Given the description of an element on the screen output the (x, y) to click on. 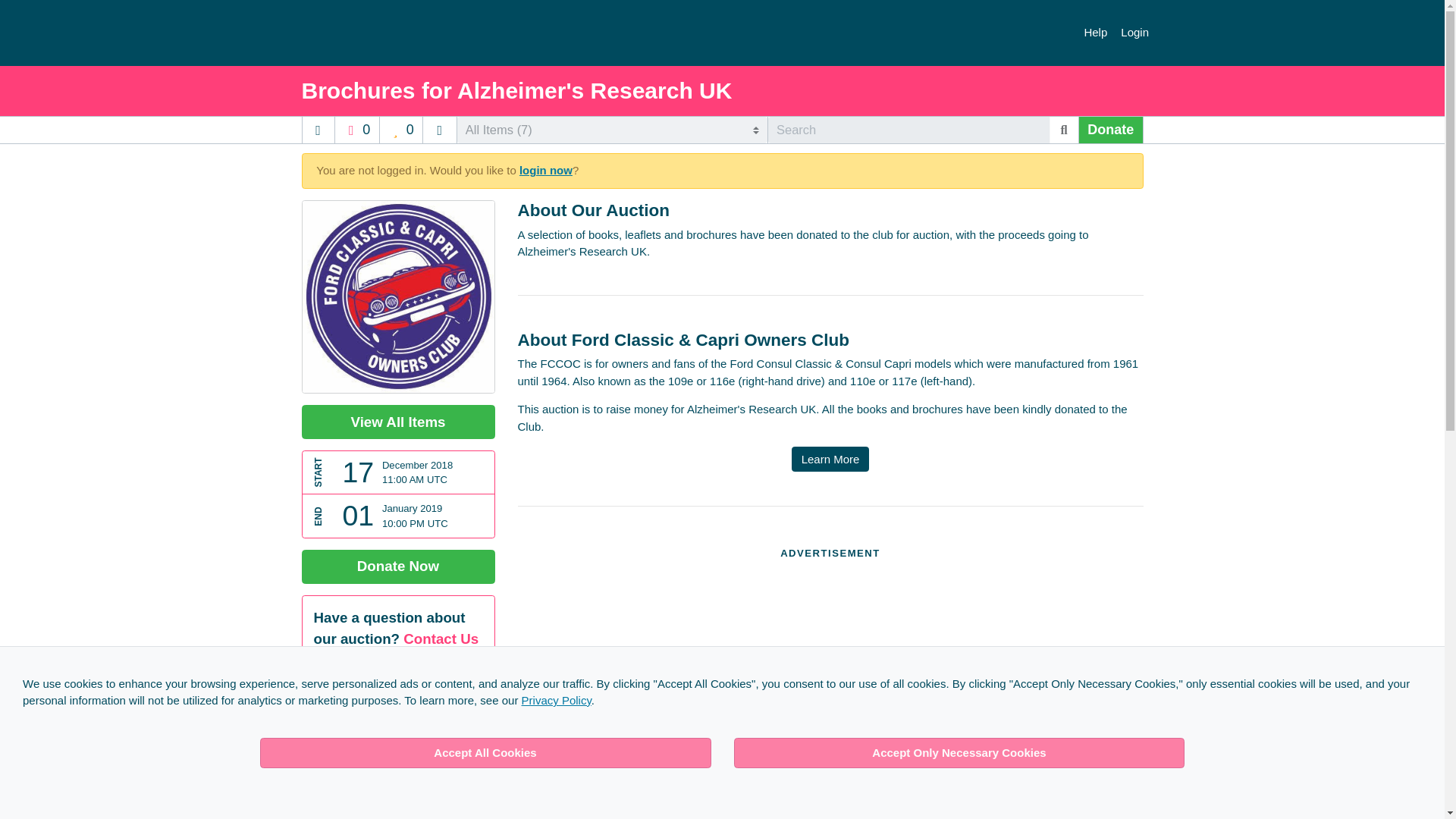
View Our Privacy Policy (556, 699)
Auction Home (317, 130)
My Bids (401, 130)
Item List (440, 130)
Donate Now (398, 566)
Privacy Policy (556, 699)
Learn More (829, 458)
login now (545, 169)
Search (1063, 130)
Accept Only Necessary Cookies (959, 752)
